Given the description of an element on the screen output the (x, y) to click on. 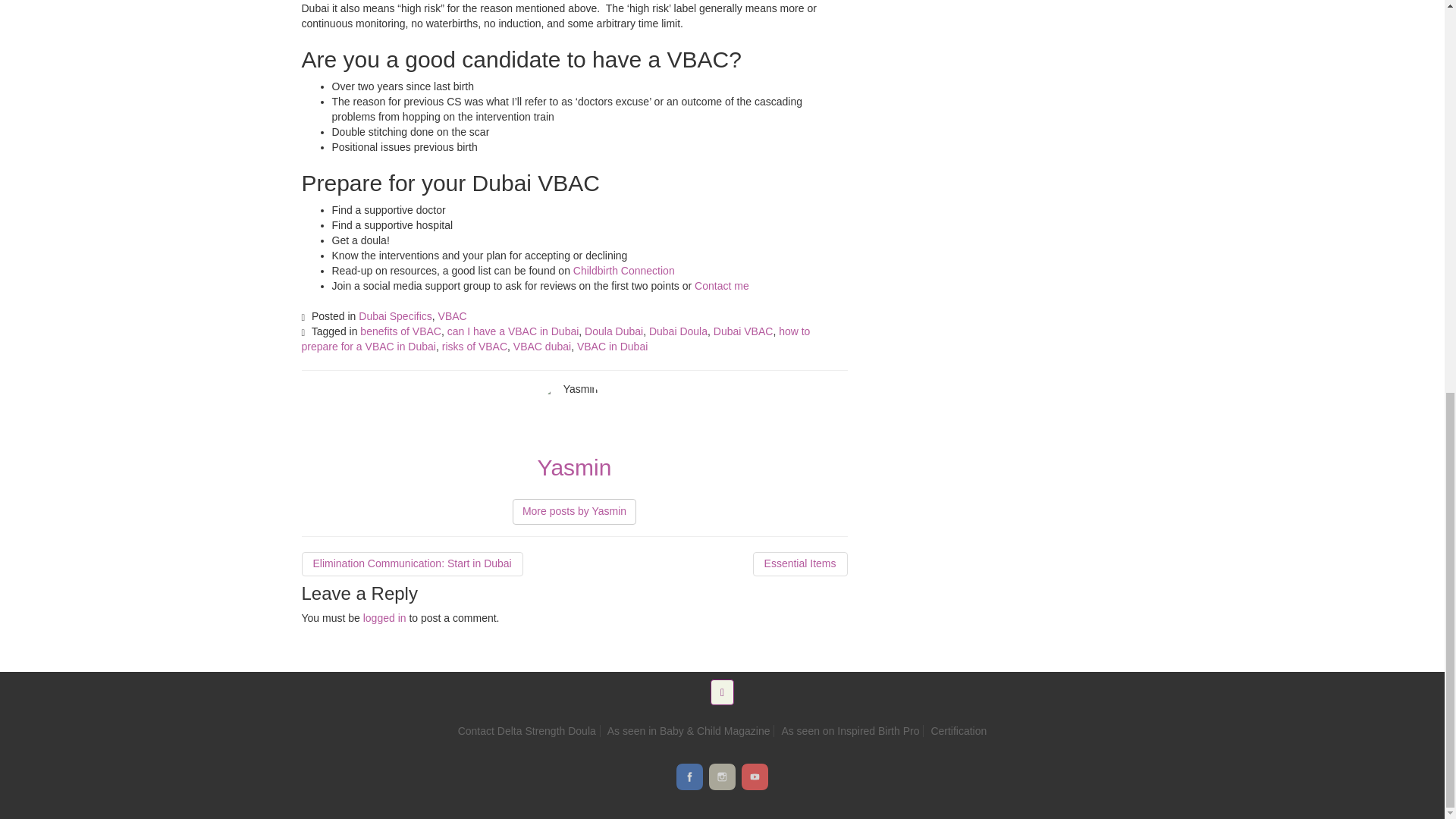
risks of VBAC (474, 346)
how to prepare for a VBAC in Dubai (555, 338)
Dubai VBAC (743, 331)
Instagram (722, 776)
VBAC dubai (541, 346)
Dubai Specifics (395, 316)
Youtube (754, 776)
benefits of VBAC (400, 331)
Childbirth Connection  (625, 270)
VBAC (452, 316)
Dubai Doula (678, 331)
Contact me (721, 285)
can I have a VBAC in Dubai (512, 331)
Doula Dubai (614, 331)
Facebook (690, 776)
